Given the description of an element on the screen output the (x, y) to click on. 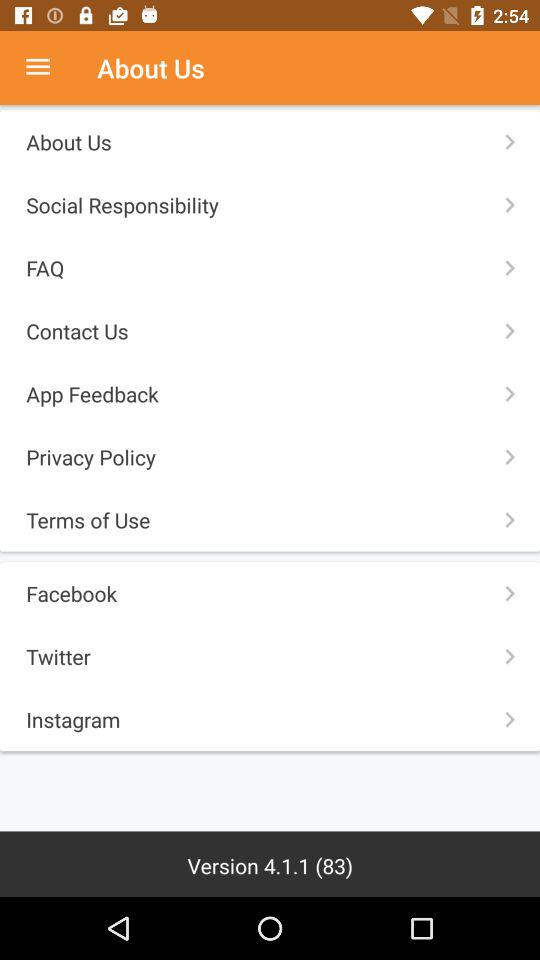
click item above the about us item (48, 67)
